Given the description of an element on the screen output the (x, y) to click on. 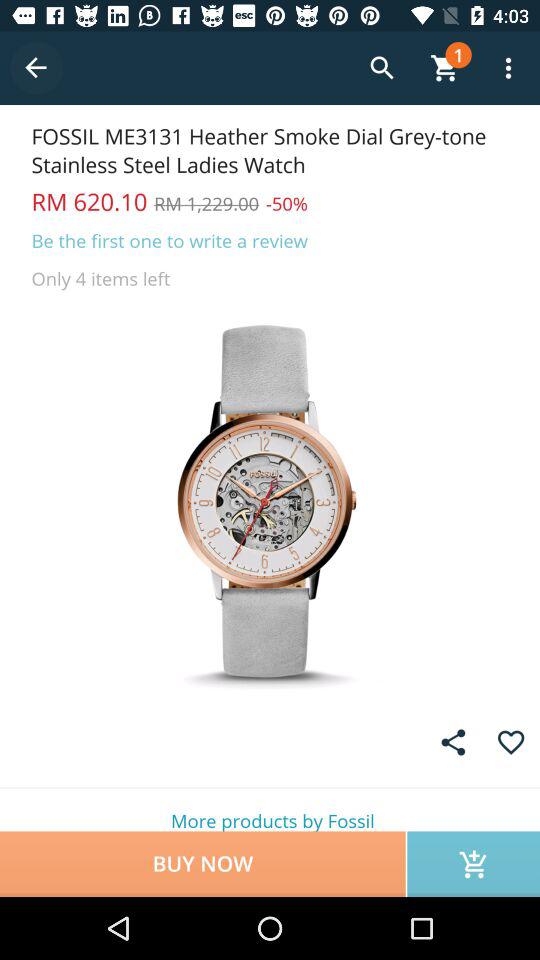
scroll until be the first (169, 240)
